Given the description of an element on the screen output the (x, y) to click on. 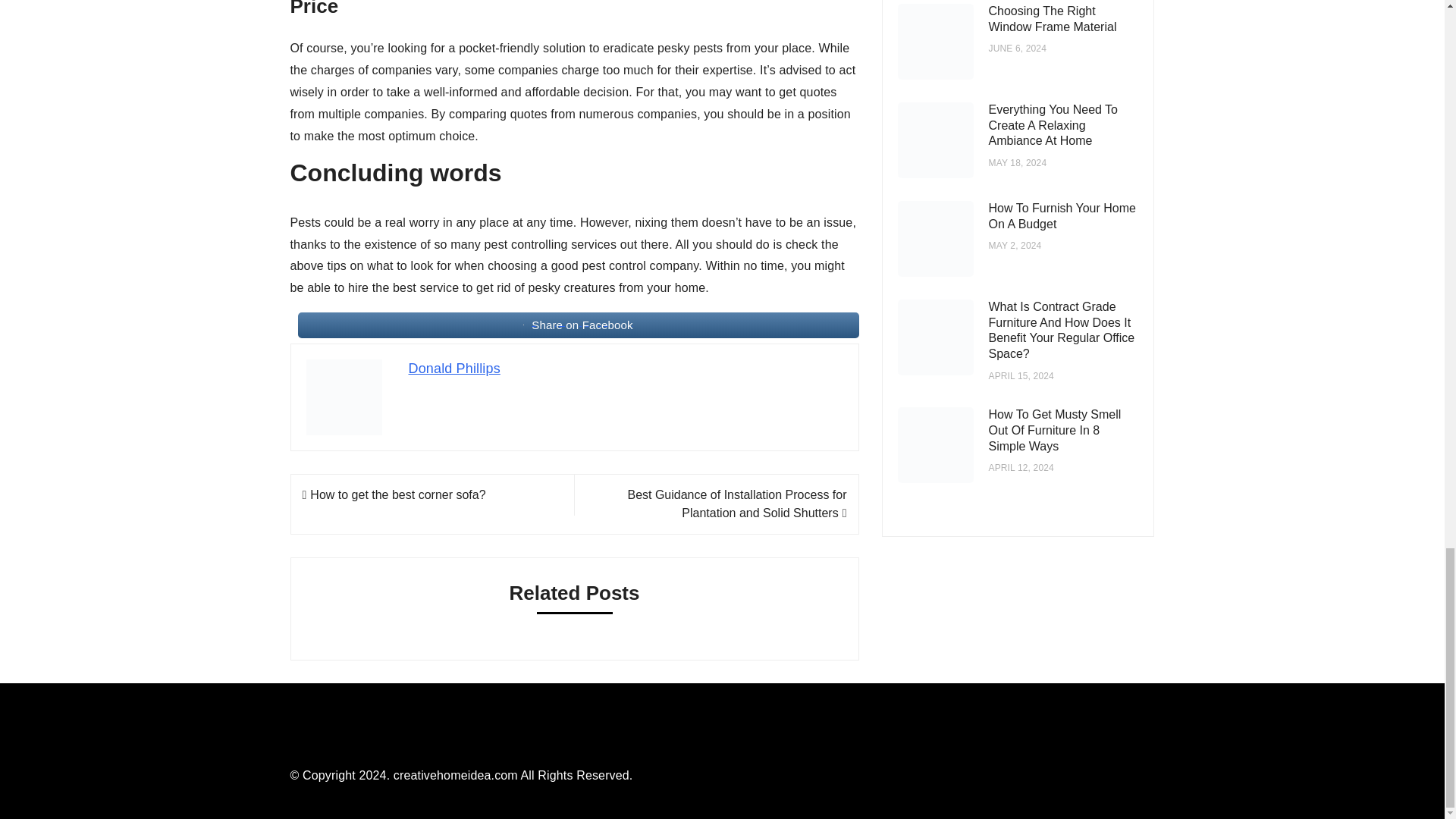
Donald Phillips (453, 368)
Share on Facebook (578, 325)
How to get the best corner sofa? (392, 494)
